Given the description of an element on the screen output the (x, y) to click on. 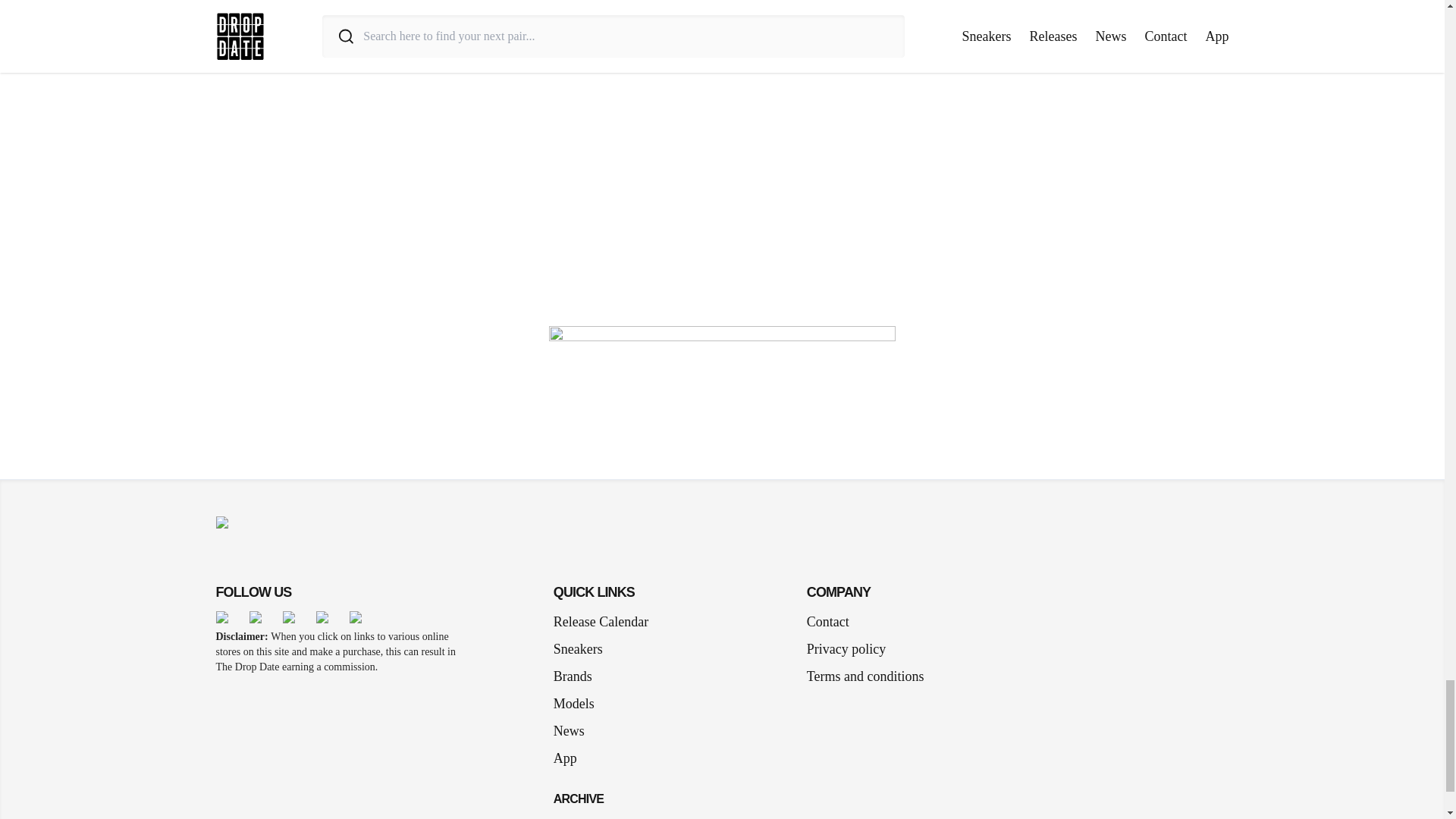
Sneaker Releases (600, 813)
Sneakers (583, 649)
Models (580, 703)
Release Calendar (600, 621)
Brands (578, 676)
News (574, 731)
Privacy policy (845, 649)
App (571, 758)
Terms and conditions (865, 676)
Contact (827, 621)
